Given the description of an element on the screen output the (x, y) to click on. 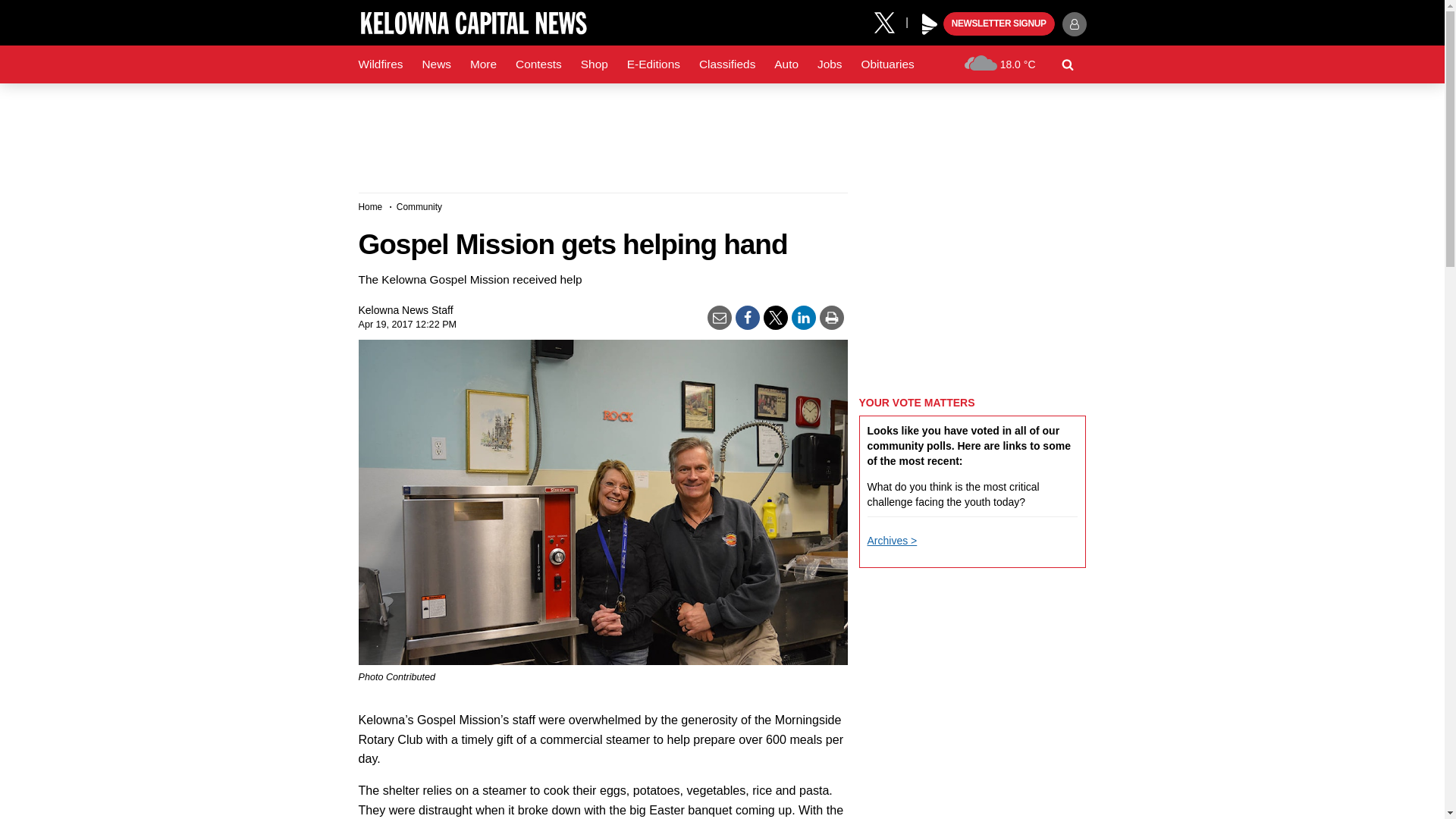
News (435, 64)
Black Press Media (929, 24)
Wildfires (380, 64)
NEWSLETTER SIGNUP (998, 24)
X (889, 21)
Play (929, 24)
